Given the description of an element on the screen output the (x, y) to click on. 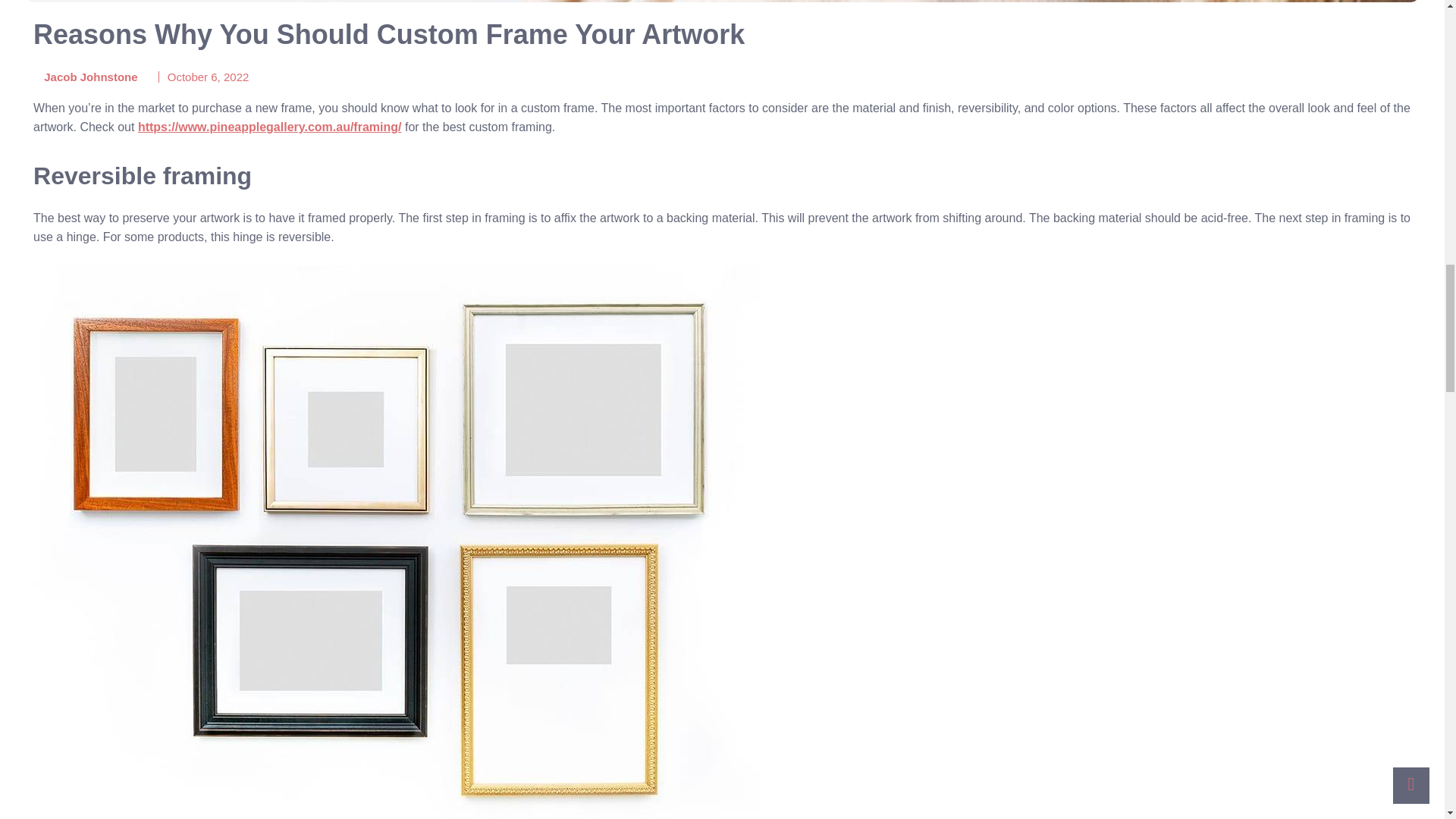
October 6, 2022 (207, 76)
Jacob Johnstone (85, 76)
